Given the description of an element on the screen output the (x, y) to click on. 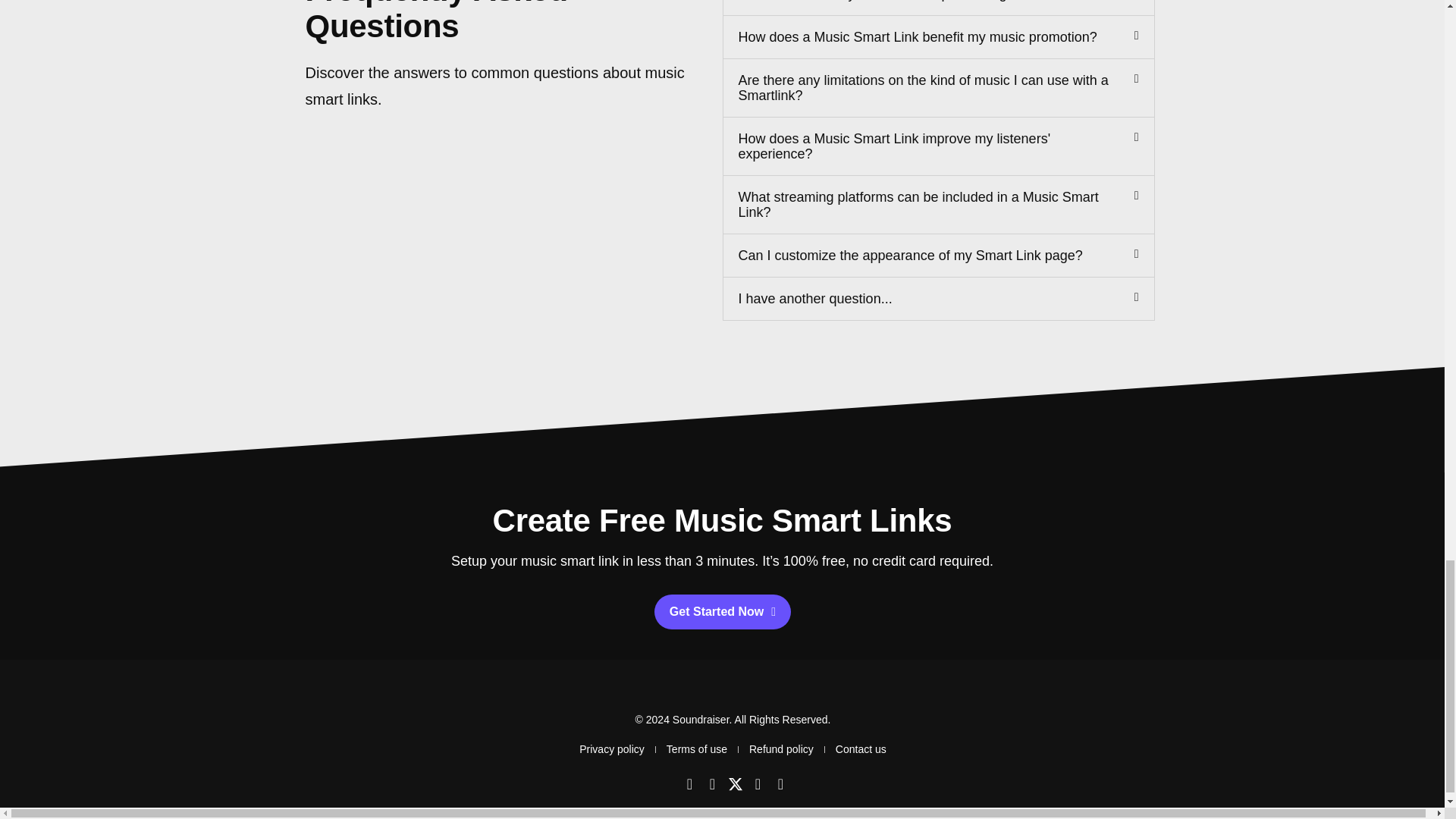
Get Started Now (721, 611)
I have another question... (815, 298)
Terms of use (696, 749)
Contact us (860, 749)
How does a Music Smart Link benefit my music promotion? (917, 37)
Refund policy (781, 749)
Can I customize the appearance of my Smart Link page? (910, 255)
Privacy policy (612, 749)
